Given the description of an element on the screen output the (x, y) to click on. 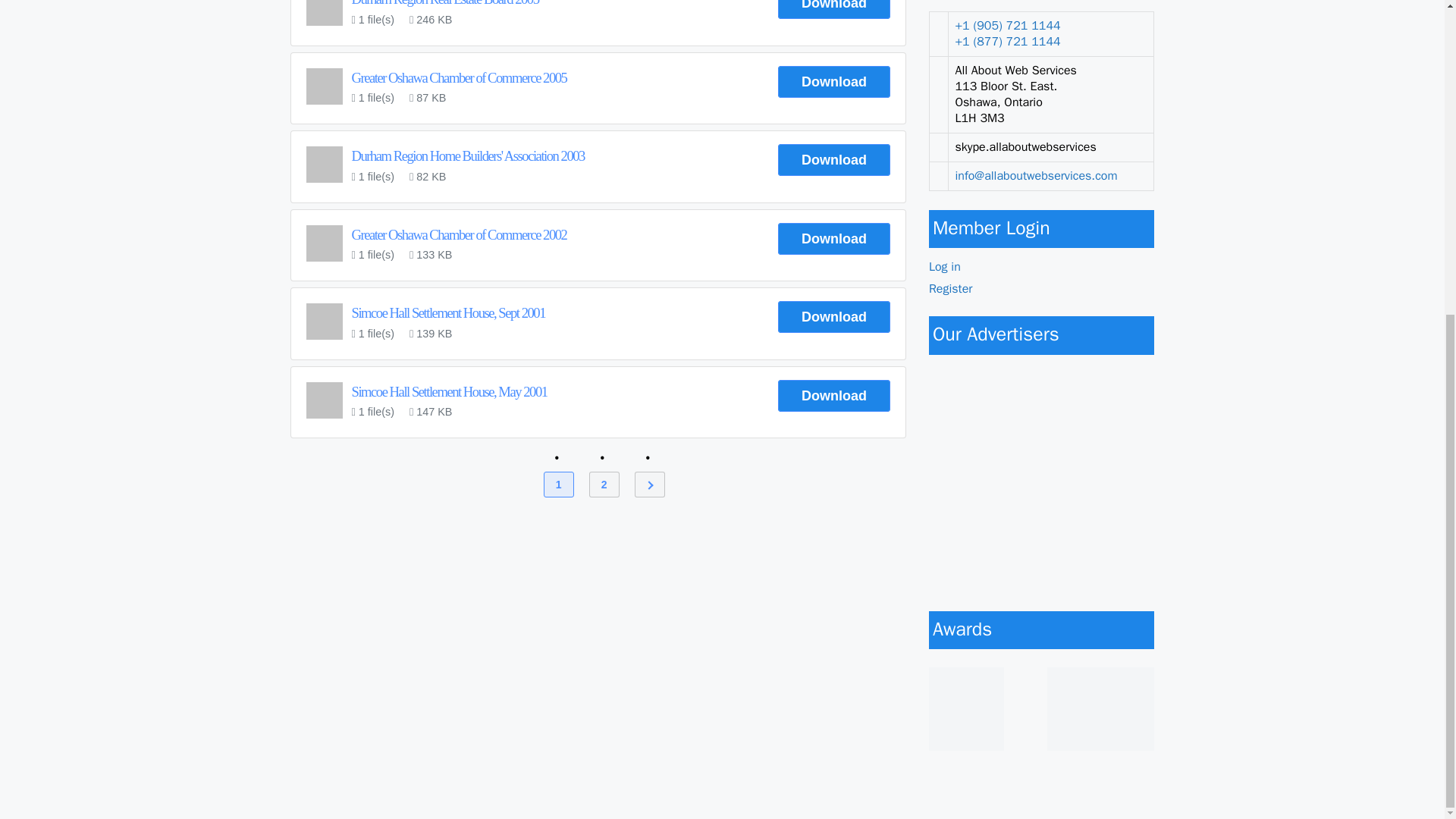
Register (950, 288)
Download (833, 238)
Simcoe Hall Settlement House, Sept 2001 (449, 312)
Download (833, 395)
Simcoe Hall Settlement House, May 2001 (449, 391)
Log in (944, 266)
2 (604, 484)
Download (833, 9)
Durham Region Real Estate Board 2005 (445, 3)
Greater Oshawa Chamber of Commerce 2005 (459, 77)
Download (833, 81)
Greater Oshawa Chamber of Commerce 2002 (459, 234)
Durham Region Home Builders' Association 2003 (468, 155)
Download (833, 160)
Download (833, 316)
